Given the description of an element on the screen output the (x, y) to click on. 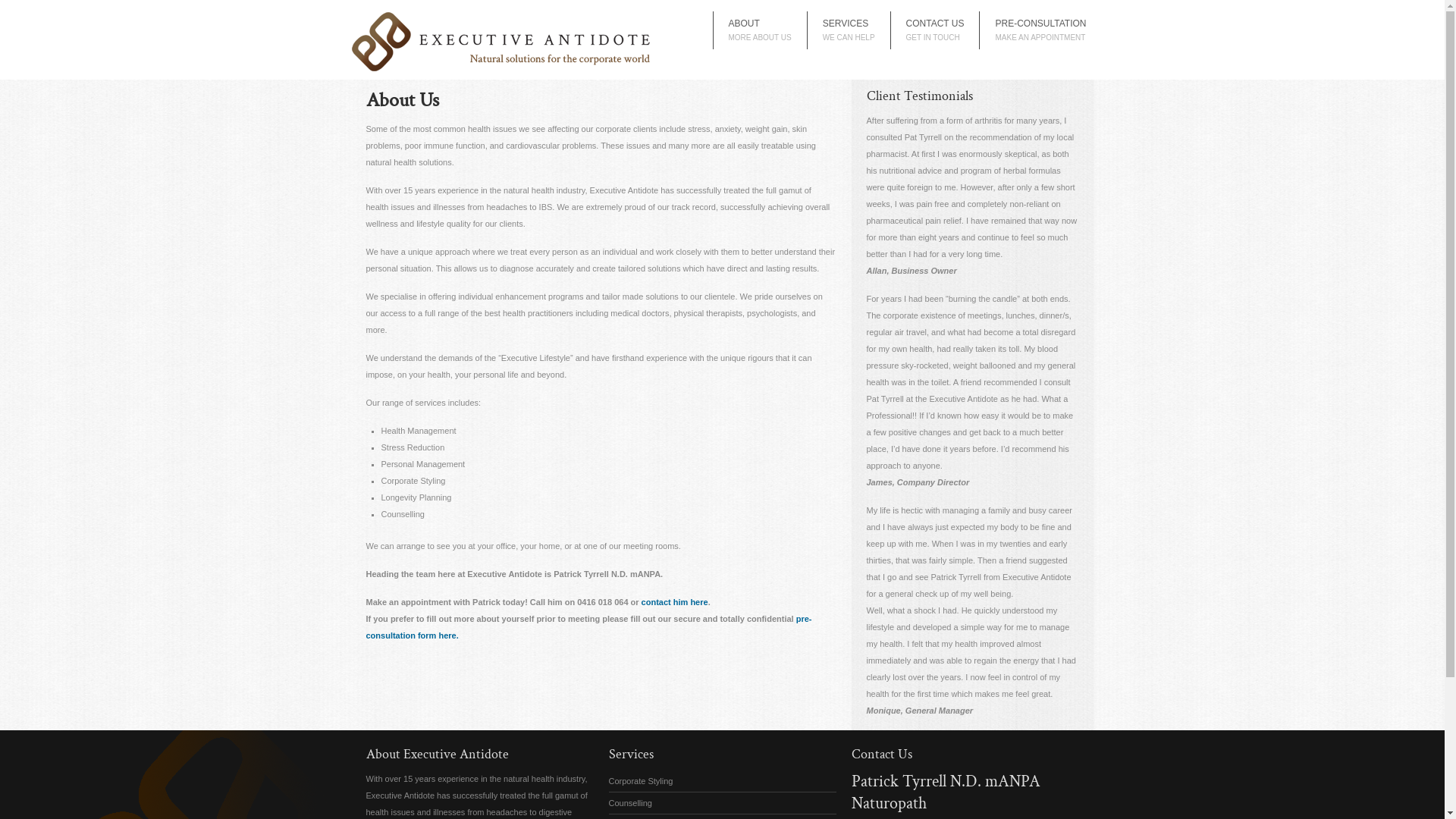
contact him here Element type: text (674, 601)
SERVICES
WE CAN HELP Element type: text (848, 30)
ABOUT
MORE ABOUT US Element type: text (759, 30)
pre-consultation form here. Element type: text (588, 627)
PRE-CONSULTATION
MAKE AN APPOINTMENT Element type: text (1040, 30)
CONTACT US
GET IN TOUCH Element type: text (935, 30)
Natural solutions for the corporate world Element type: hover (501, 68)
Corporate Styling Element type: text (721, 780)
Counselling Element type: text (721, 802)
